Given the description of an element on the screen output the (x, y) to click on. 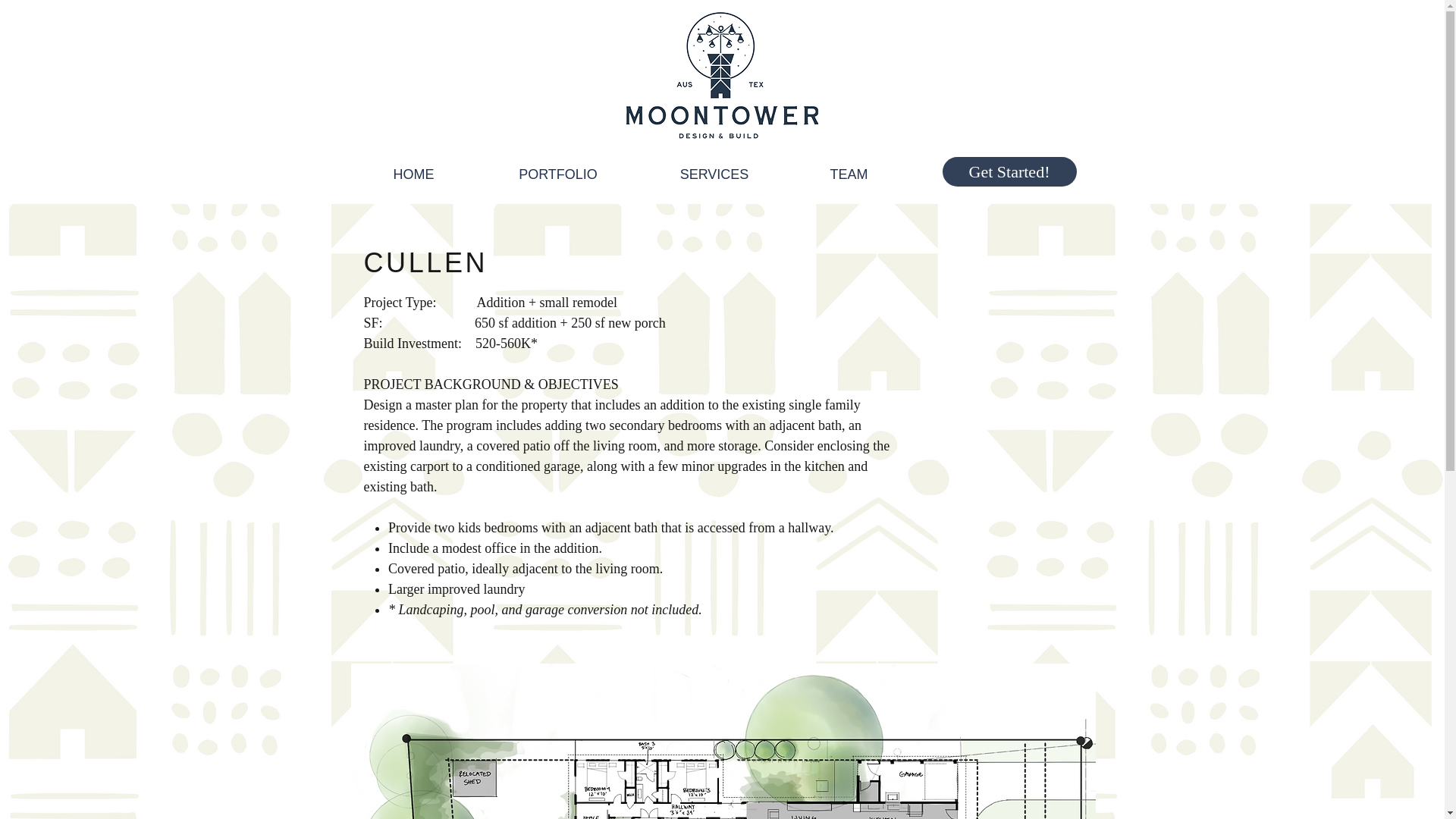
HOME (413, 167)
Screen Shot 2023-04-05 at 10.38.19 AM.pn (722, 79)
TEAM (848, 167)
PORTFOLIO (557, 167)
Get Started! (1008, 171)
